Given the description of an element on the screen output the (x, y) to click on. 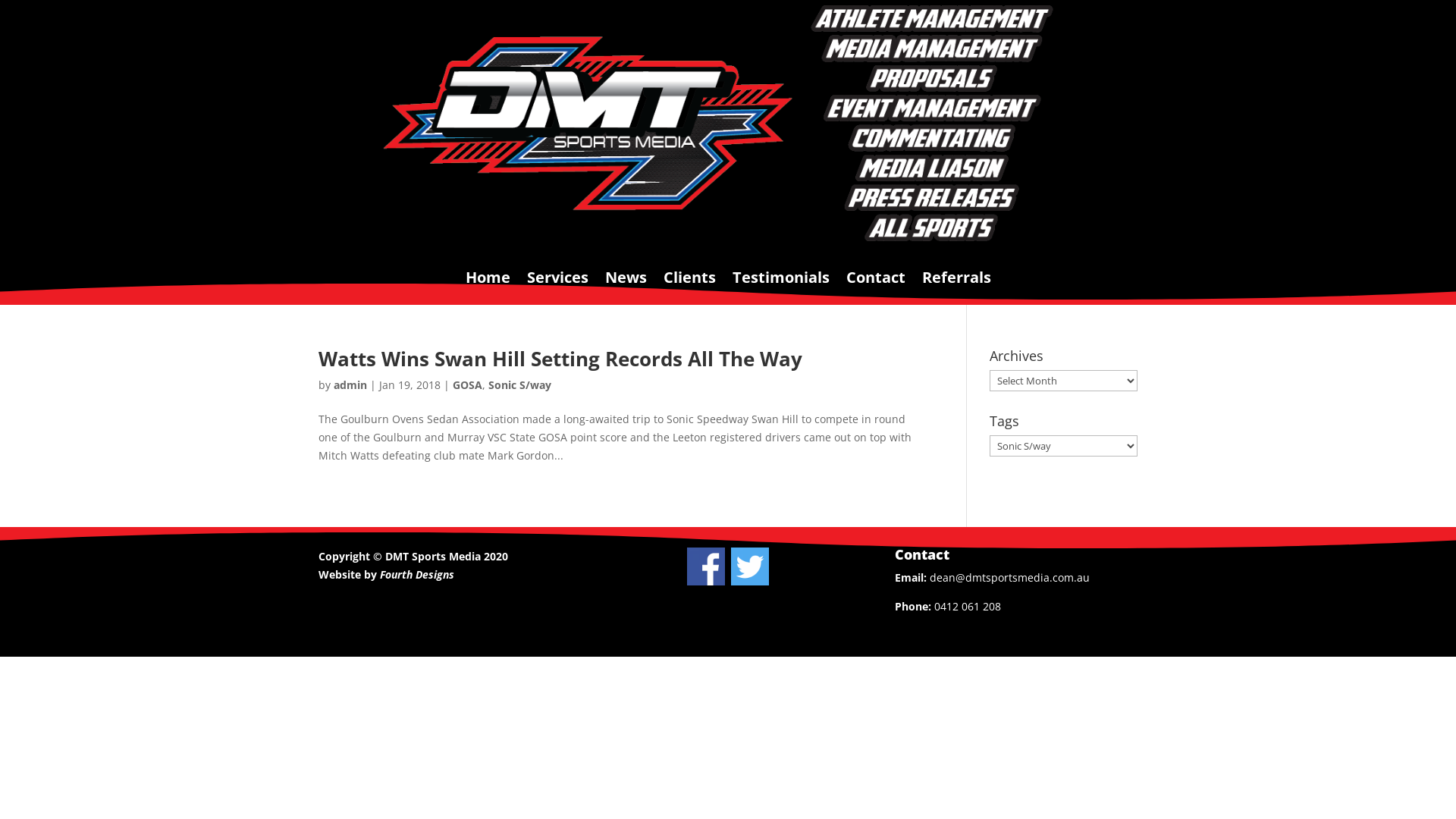
admin Element type: text (350, 384)
GOSA Element type: text (467, 384)
Testimonials Element type: text (780, 288)
Services Element type: text (556, 288)
    Element type: text (749, 581)
Home Element type: text (487, 288)
Watts Wins Swan Hill Setting Records All The Way Element type: text (560, 358)
Fourth Designs Element type: text (416, 574)
News Element type: text (625, 288)
Clients Element type: text (688, 288)
Contact Element type: text (875, 288)
dmtWebHeader2 Element type: hover (728, 123)
  Element type: text (702, 581)
Referrals Element type: text (956, 288)
Sonic S/way Element type: text (519, 384)
